Given the description of an element on the screen output the (x, y) to click on. 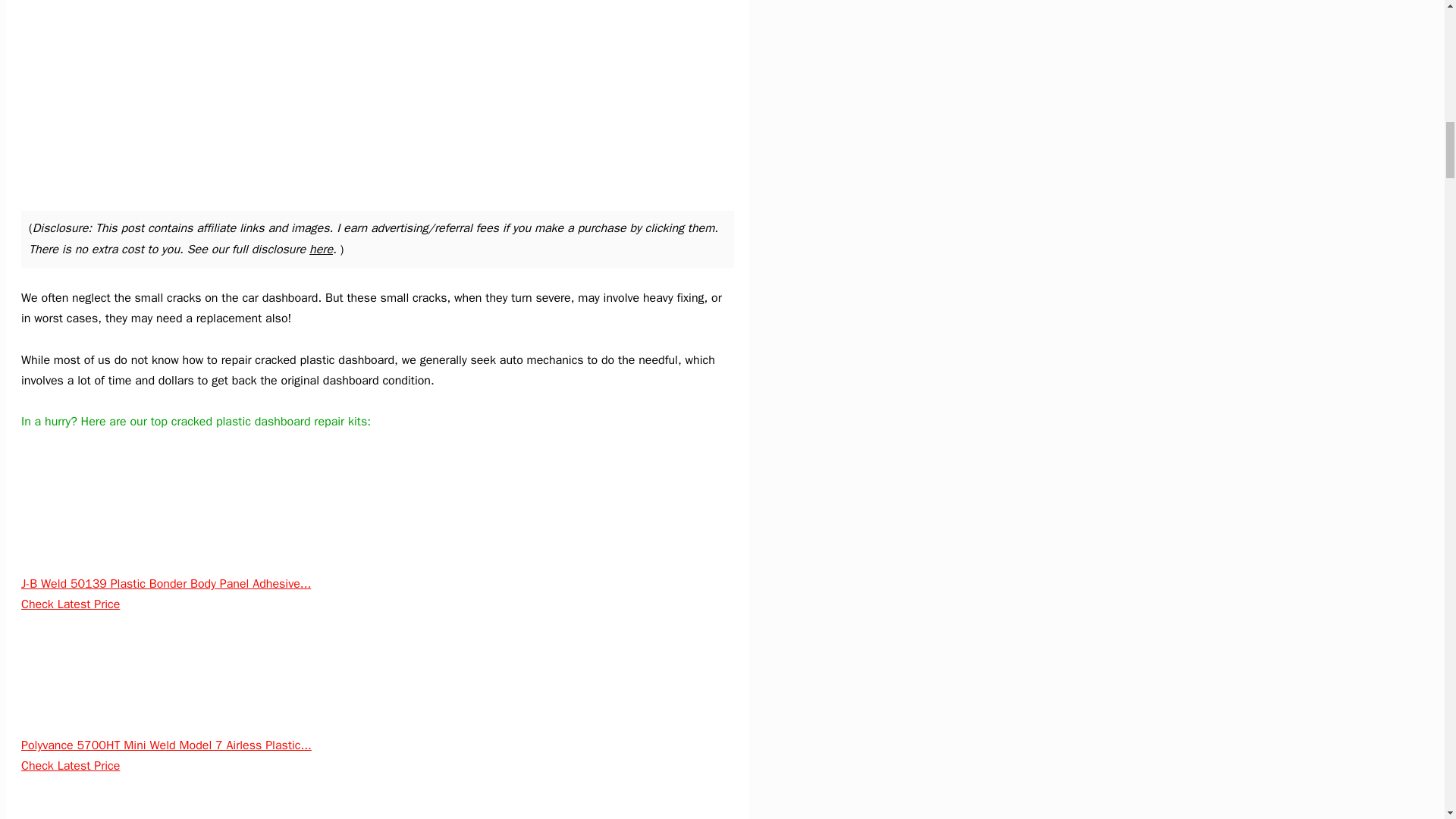
J-B Weld 50139 Plastic Bonder Body Panel Adhesive... (166, 583)
Check Latest Price (70, 604)
here (320, 249)
Check Latest Price (70, 765)
Polyvance 5700HT Mini Weld Model 7 Airless Plastic... (166, 744)
Check Latest Price (70, 604)
